Given the description of an element on the screen output the (x, y) to click on. 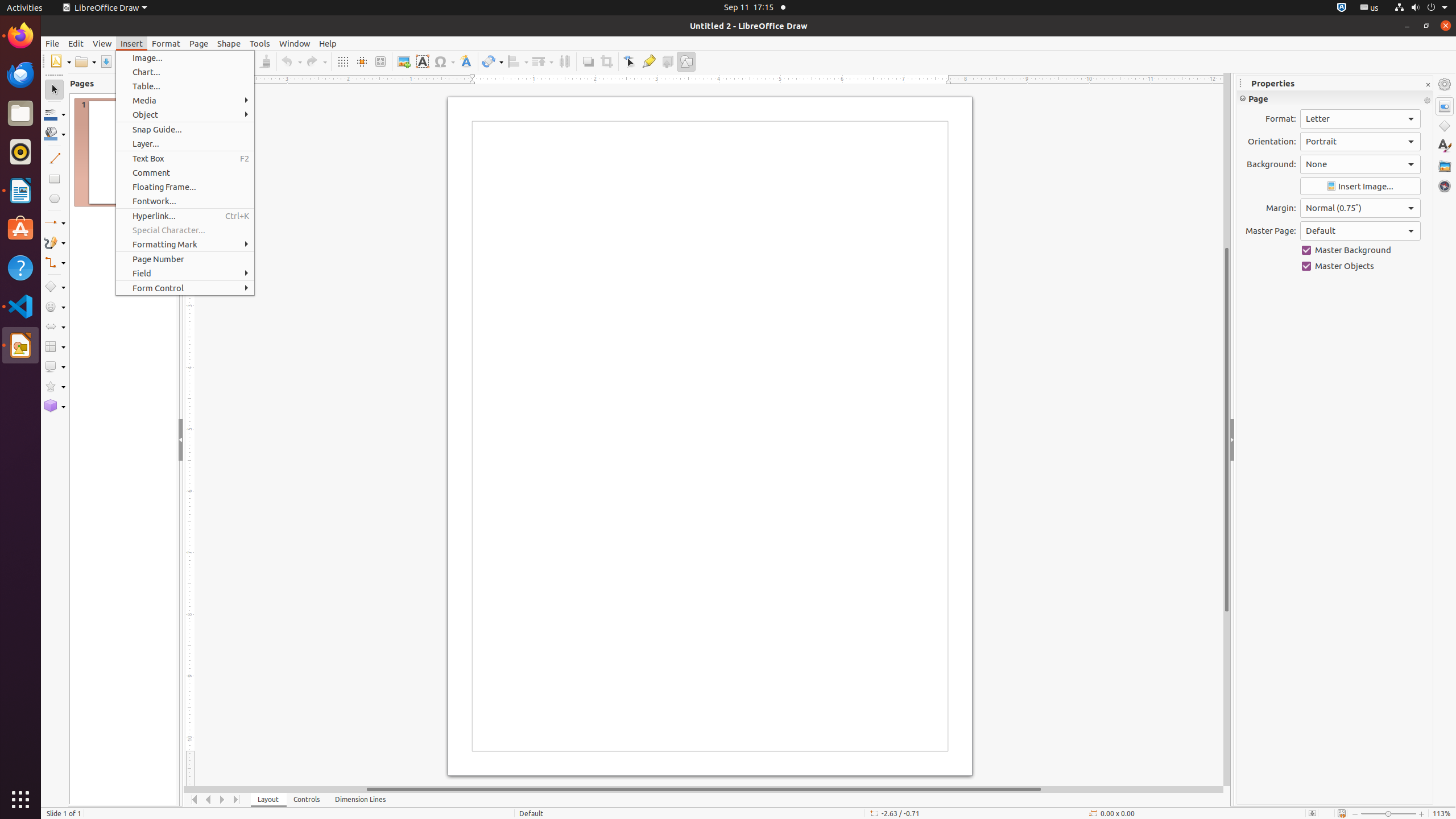
Crop Element type: push-button (606, 61)
Table... Element type: menu-item (185, 86)
Toggle Extrusion Element type: push-button (667, 61)
Shape Element type: menu (228, 43)
:1.72/StatusNotifierItem Element type: menu (1341, 7)
